Given the description of an element on the screen output the (x, y) to click on. 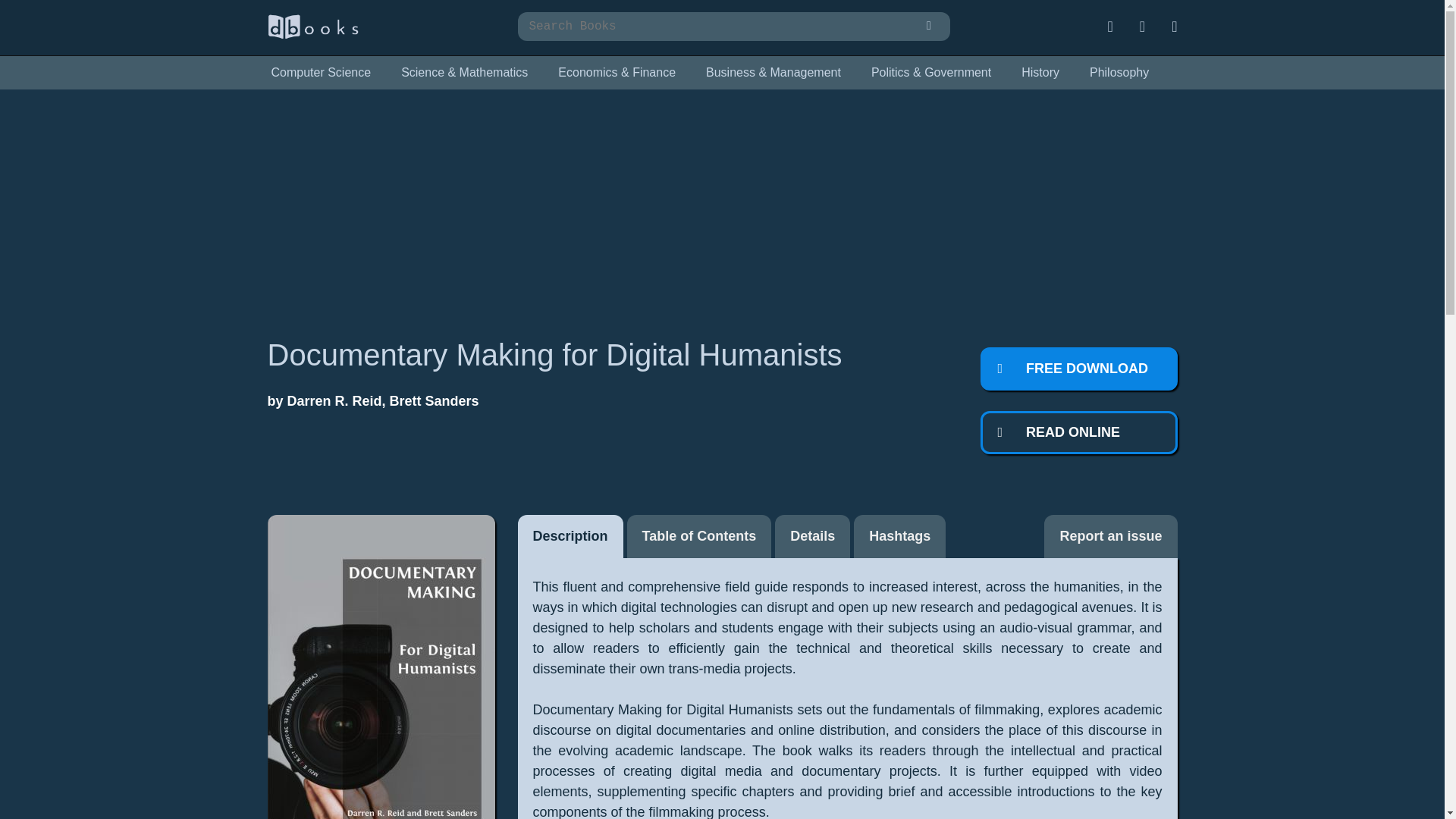
FREE DOWNLOAD (1077, 368)
History (1039, 72)
Table of Contents (699, 536)
Politics and Government (930, 72)
Description (569, 536)
Philosophy (1119, 72)
Details (812, 536)
Hashtags (898, 536)
Computer Science (320, 72)
Business and Management (772, 72)
